Given the description of an element on the screen output the (x, y) to click on. 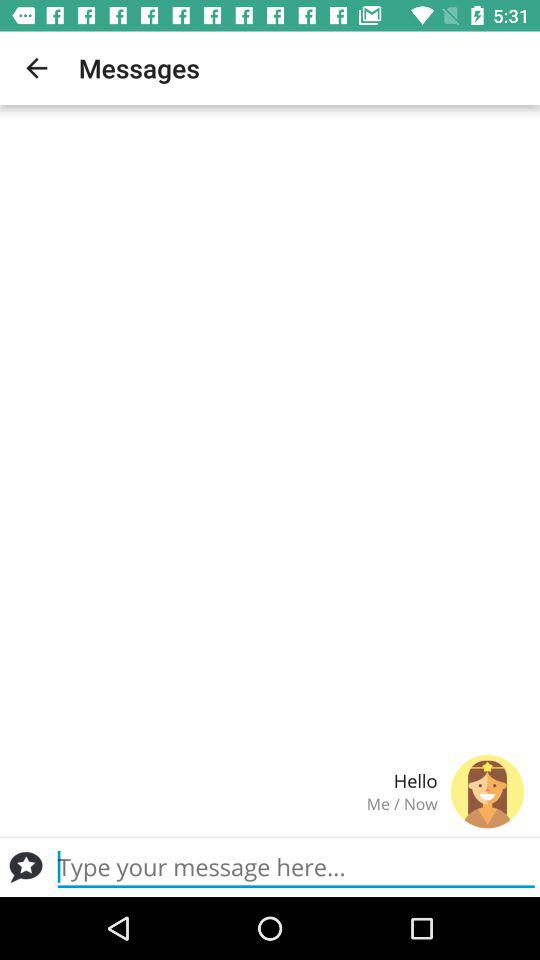
click off advertisement (26, 867)
